Given the description of an element on the screen output the (x, y) to click on. 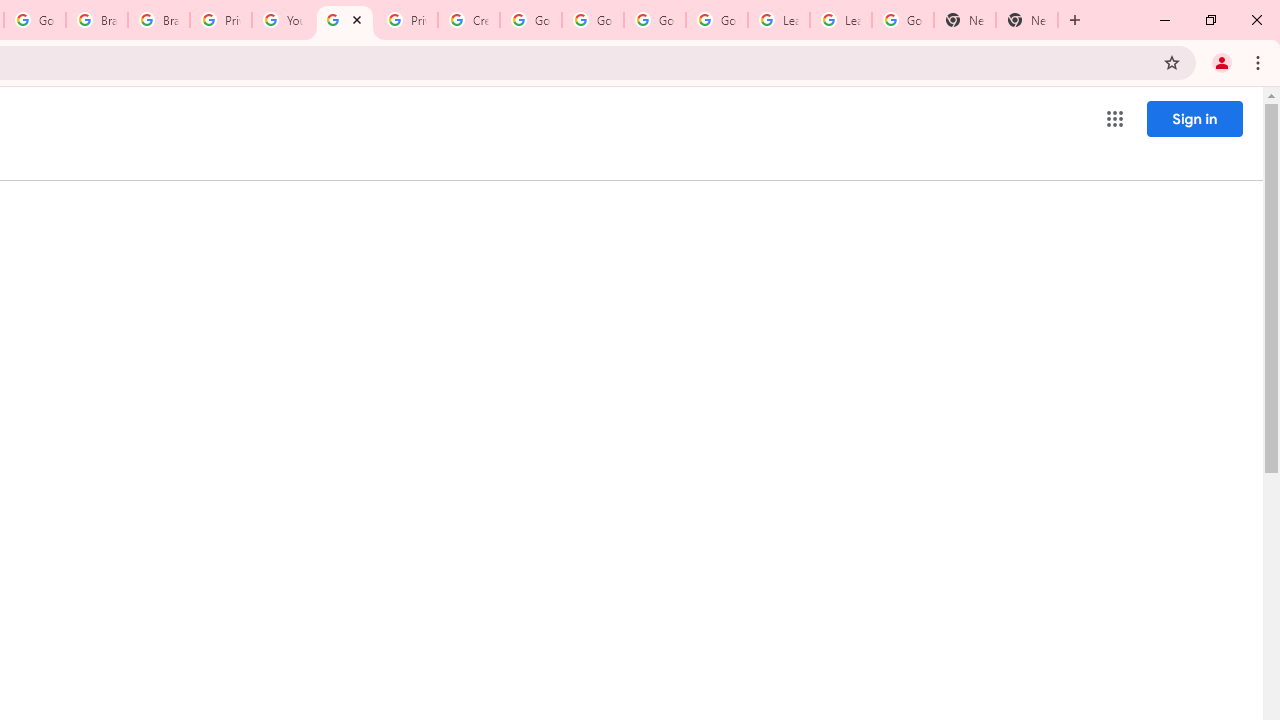
Google Account Help (654, 20)
New Tab (964, 20)
YouTube (282, 20)
